Given the description of an element on the screen output the (x, y) to click on. 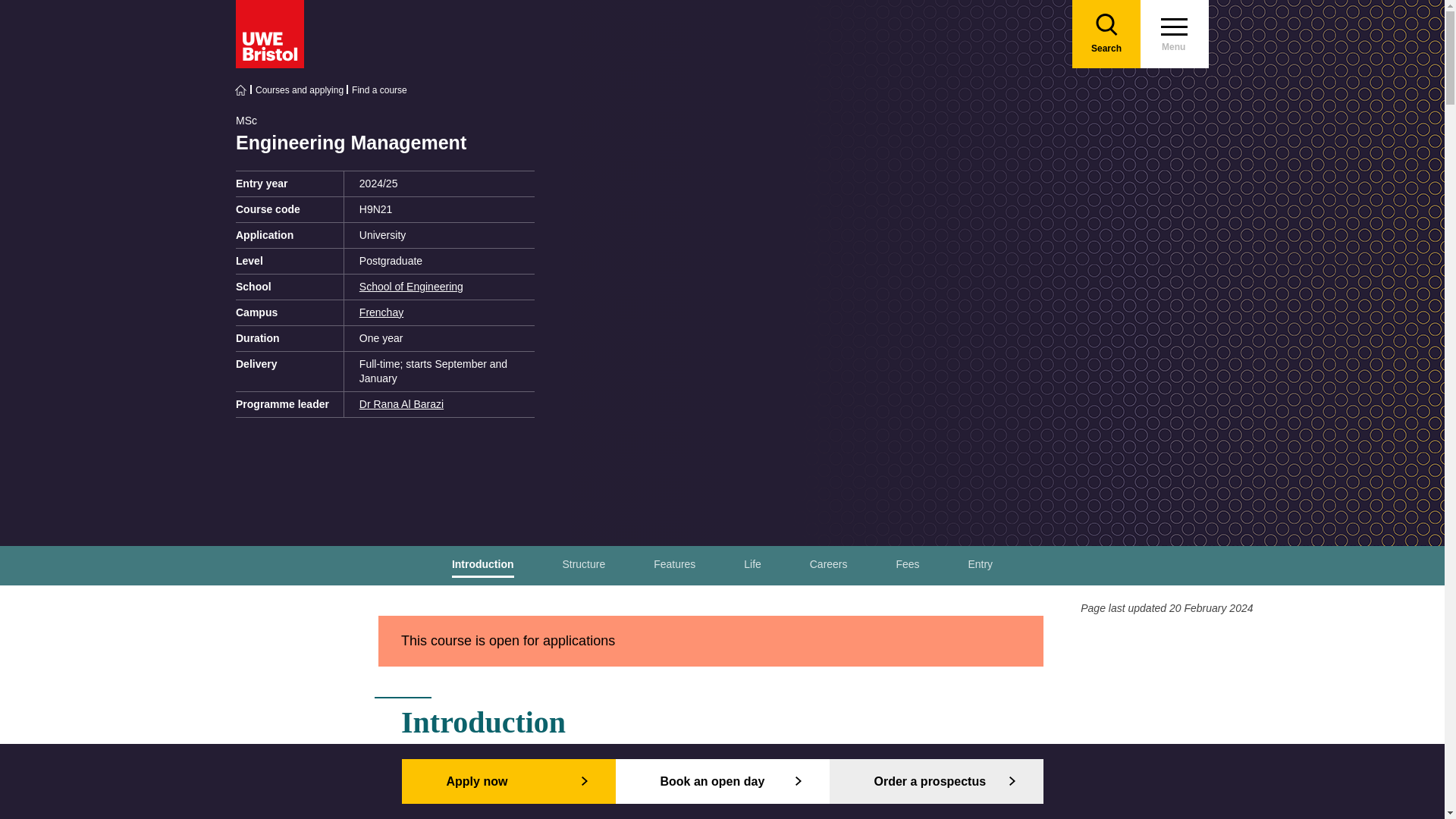
Menu (1174, 33)
Home (240, 90)
Search (1105, 33)
